Given the description of an element on the screen output the (x, y) to click on. 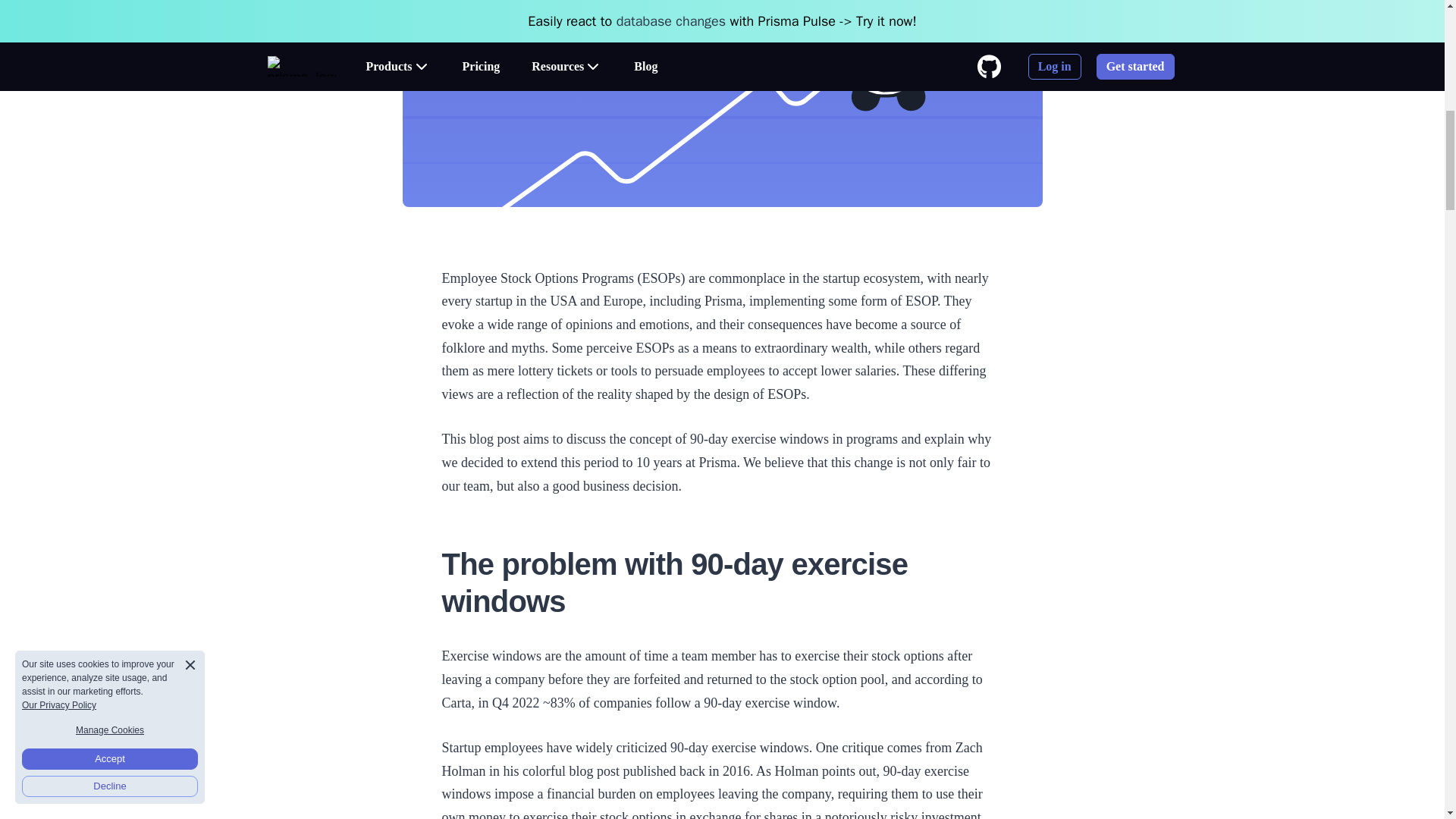
according to Carta (711, 690)
blog post (594, 770)
